Given the description of an element on the screen output the (x, y) to click on. 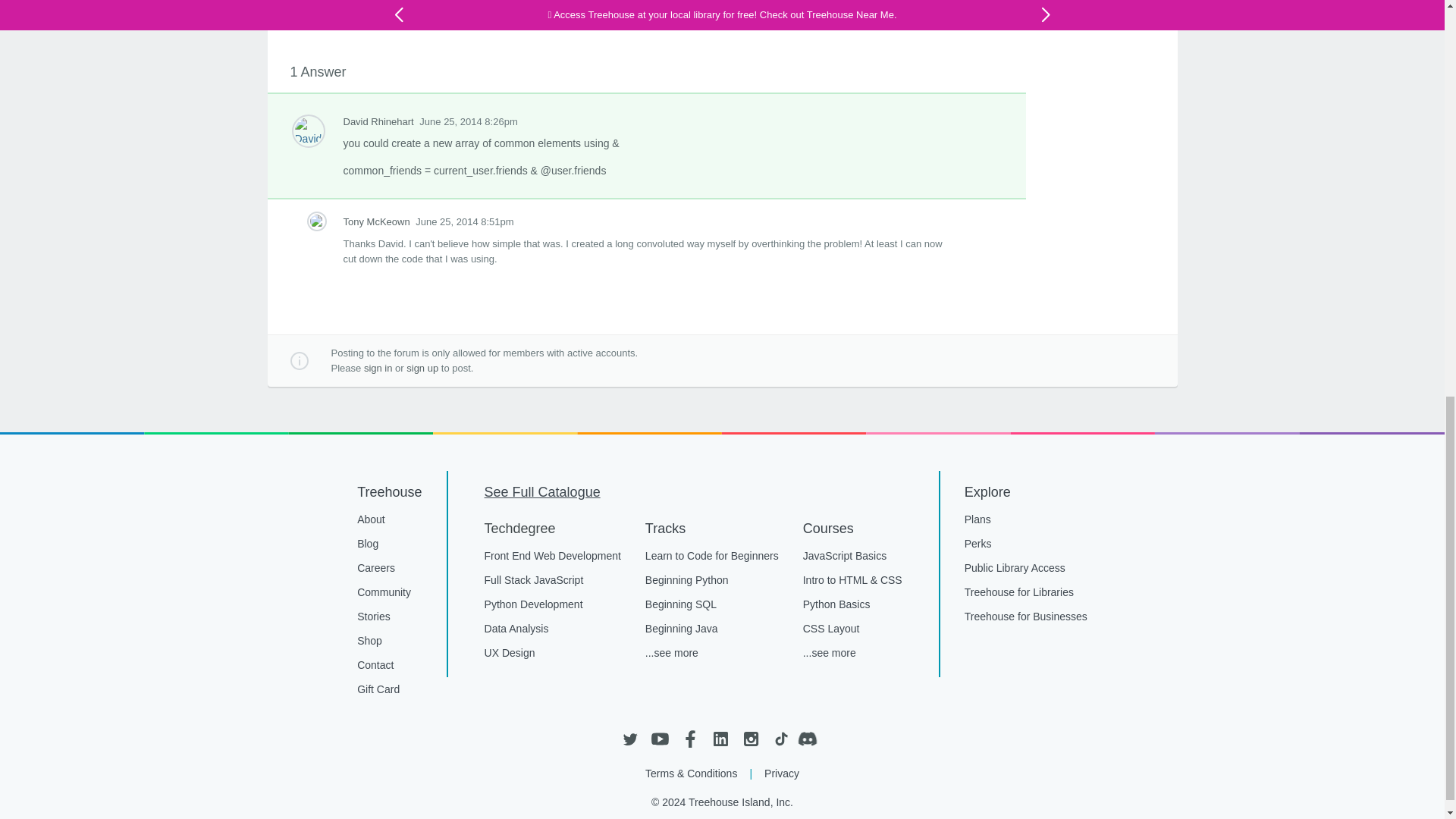
LinkedIn (719, 738)
Twitter (628, 738)
Facebook (690, 738)
Discord (810, 738)
YouTube (659, 738)
Twitter (628, 738)
Instagram (749, 738)
YouTube (659, 738)
Instagram (749, 738)
TikTok (780, 738)
